Given the description of an element on the screen output the (x, y) to click on. 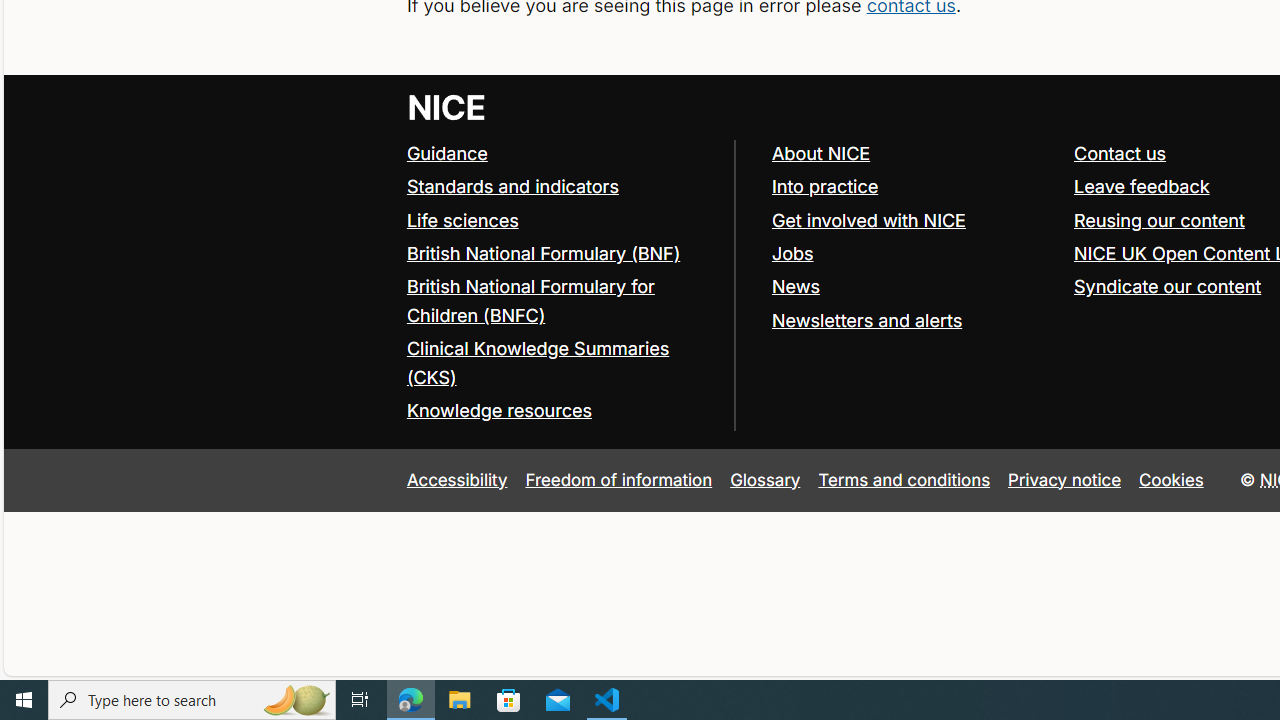
Knowledge resources (560, 411)
Privacy notice (1065, 479)
Into practice (824, 186)
Into practice (913, 187)
Contact us (1120, 152)
Freedom of information (618, 479)
Newsletters and alerts (866, 319)
Accessibility (456, 479)
Reusing our content (1159, 219)
